Given the description of an element on the screen output the (x, y) to click on. 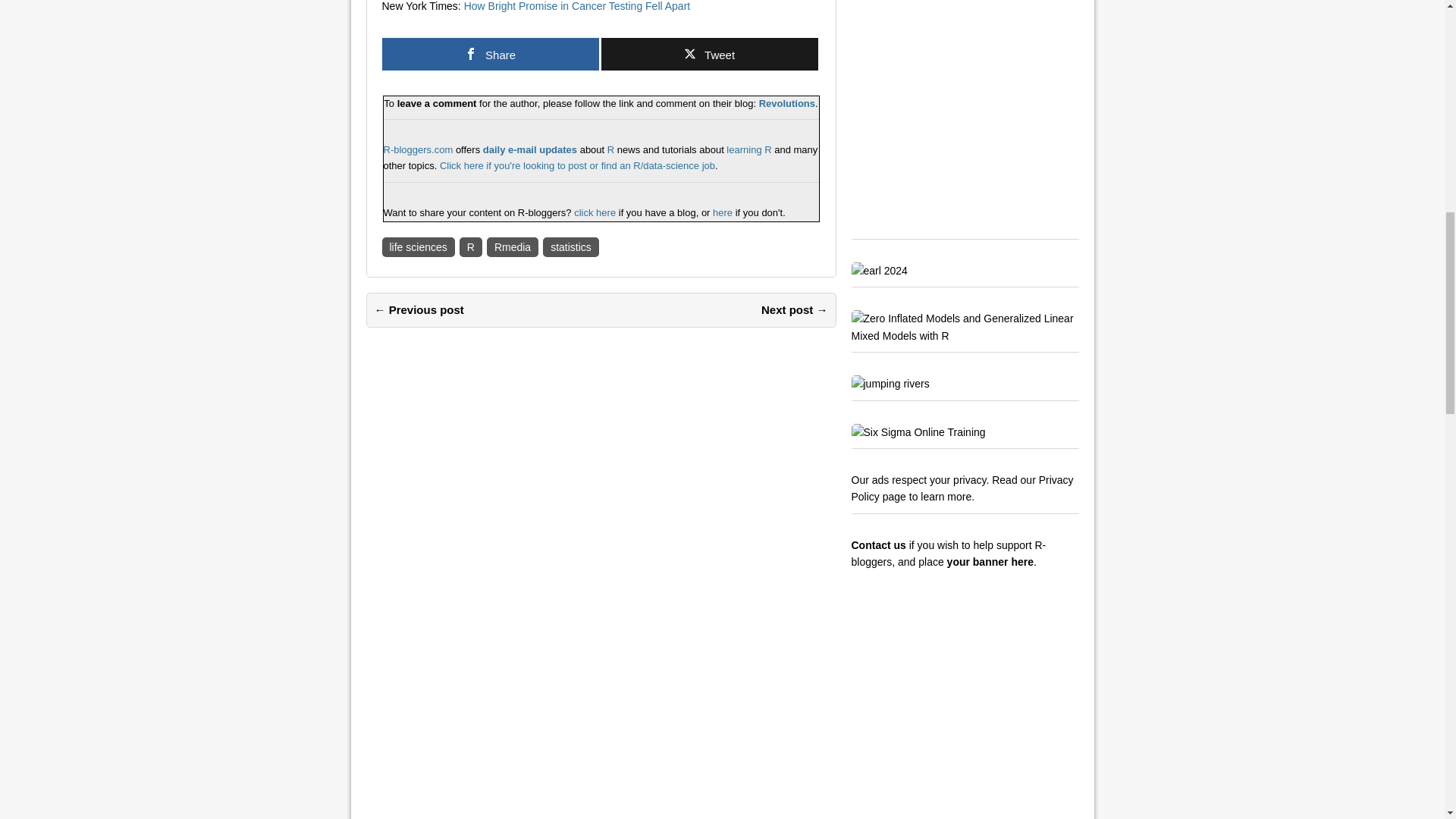
How Bright Promise in Cancer Testing Fell Apart (577, 6)
daily e-mail updates (529, 149)
R-bloggers.com (418, 149)
Share (489, 53)
here (722, 212)
Revolutions (786, 102)
R (470, 247)
R tutorials (748, 149)
click here (593, 212)
Tweet (707, 53)
